Given the description of an element on the screen output the (x, y) to click on. 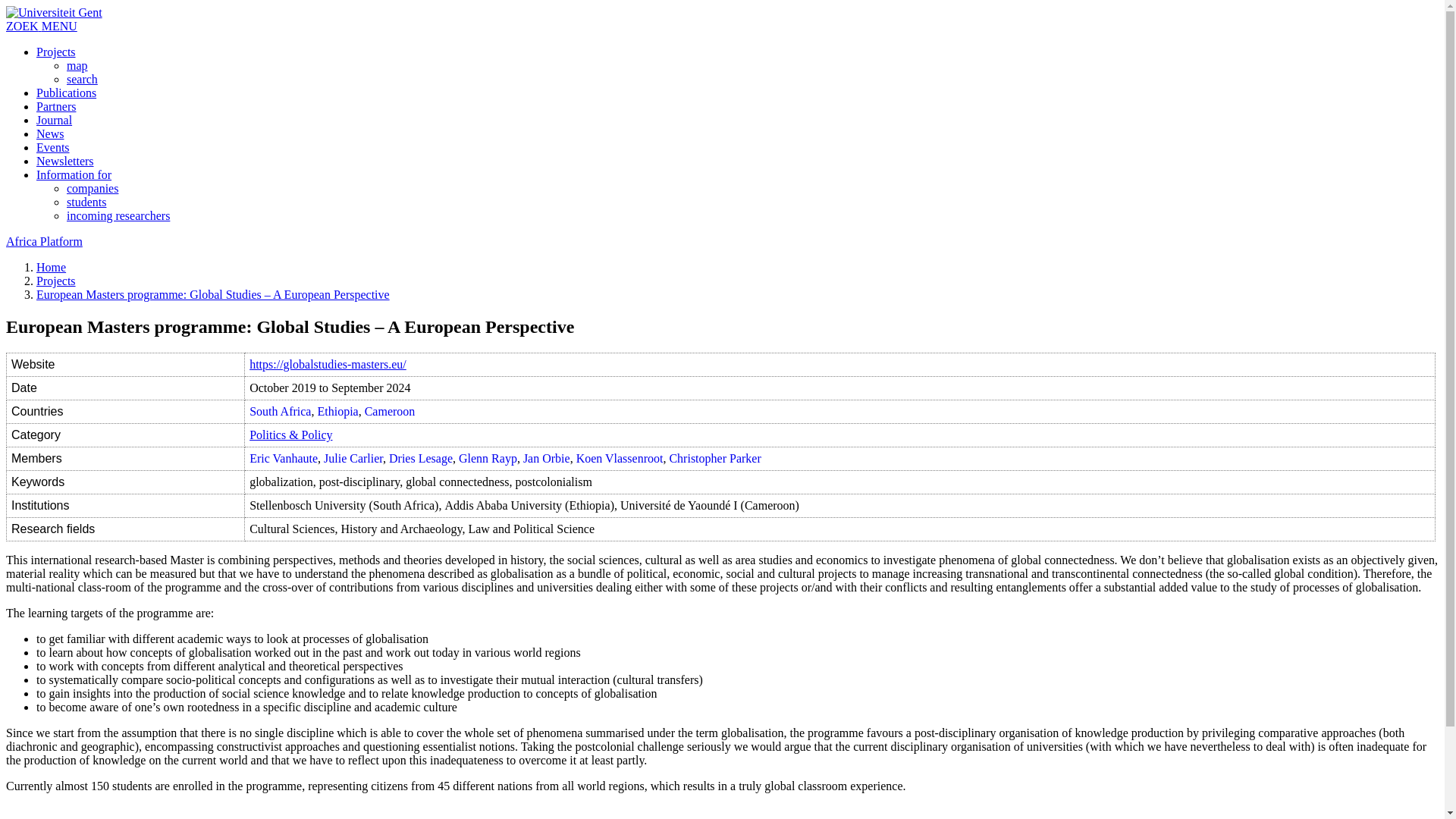
Africa Platform (43, 241)
Glenn Rayp (487, 458)
search (81, 78)
Newsletters (65, 160)
companies (91, 187)
Ethiopia (337, 410)
Journal (53, 119)
News (50, 133)
South Africa (279, 410)
Home (50, 267)
Events (52, 146)
Projects (55, 280)
incoming researchers (118, 215)
Disclaimer (62, 818)
